Given the description of an element on the screen output the (x, y) to click on. 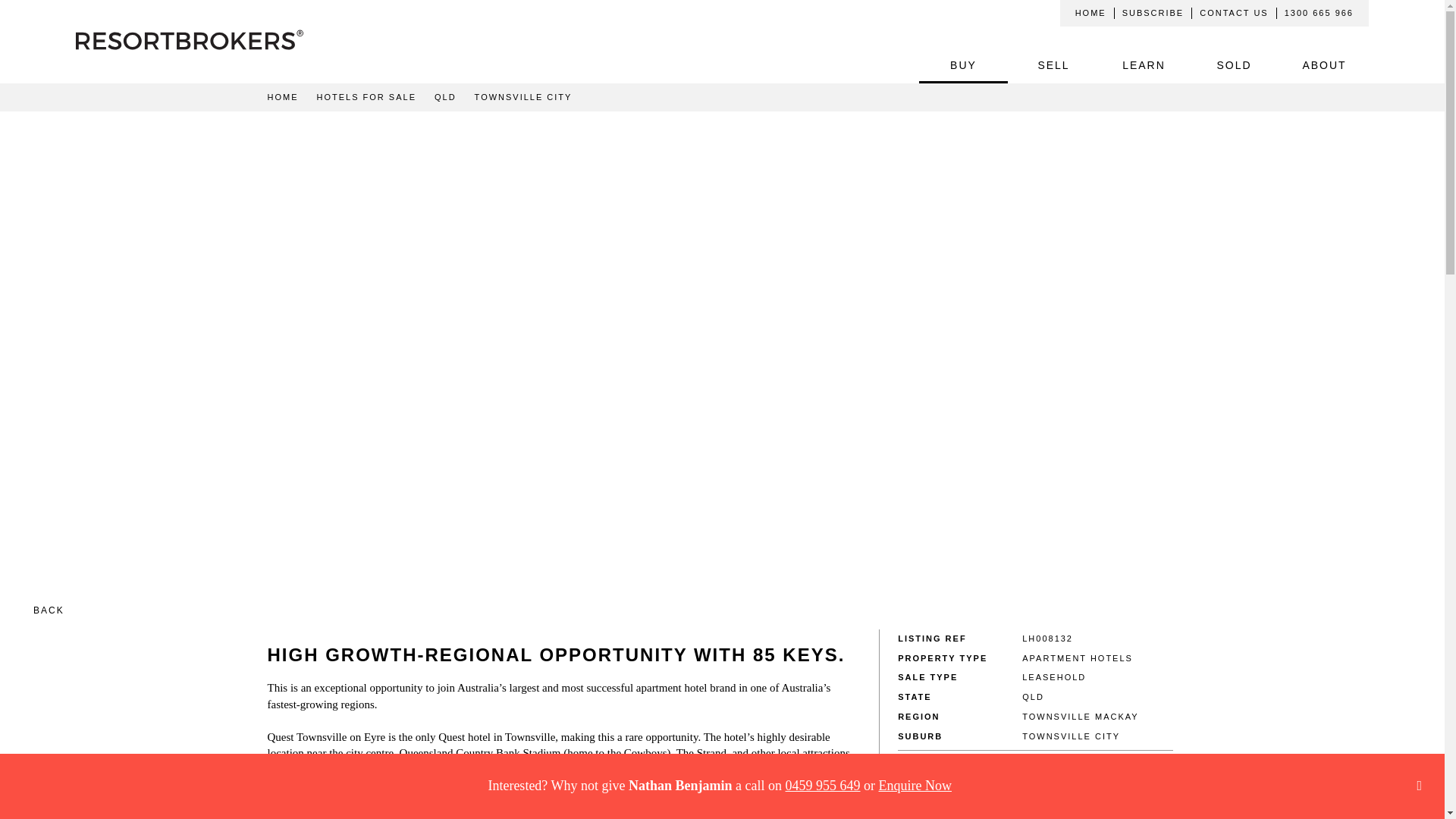
HOME (1091, 12)
1300 665 966 (1318, 12)
BUY (962, 65)
CONTACT US (1234, 12)
SELL (1053, 65)
LEARN (1143, 65)
SUBSCRIBE (1153, 12)
